Given the description of an element on the screen output the (x, y) to click on. 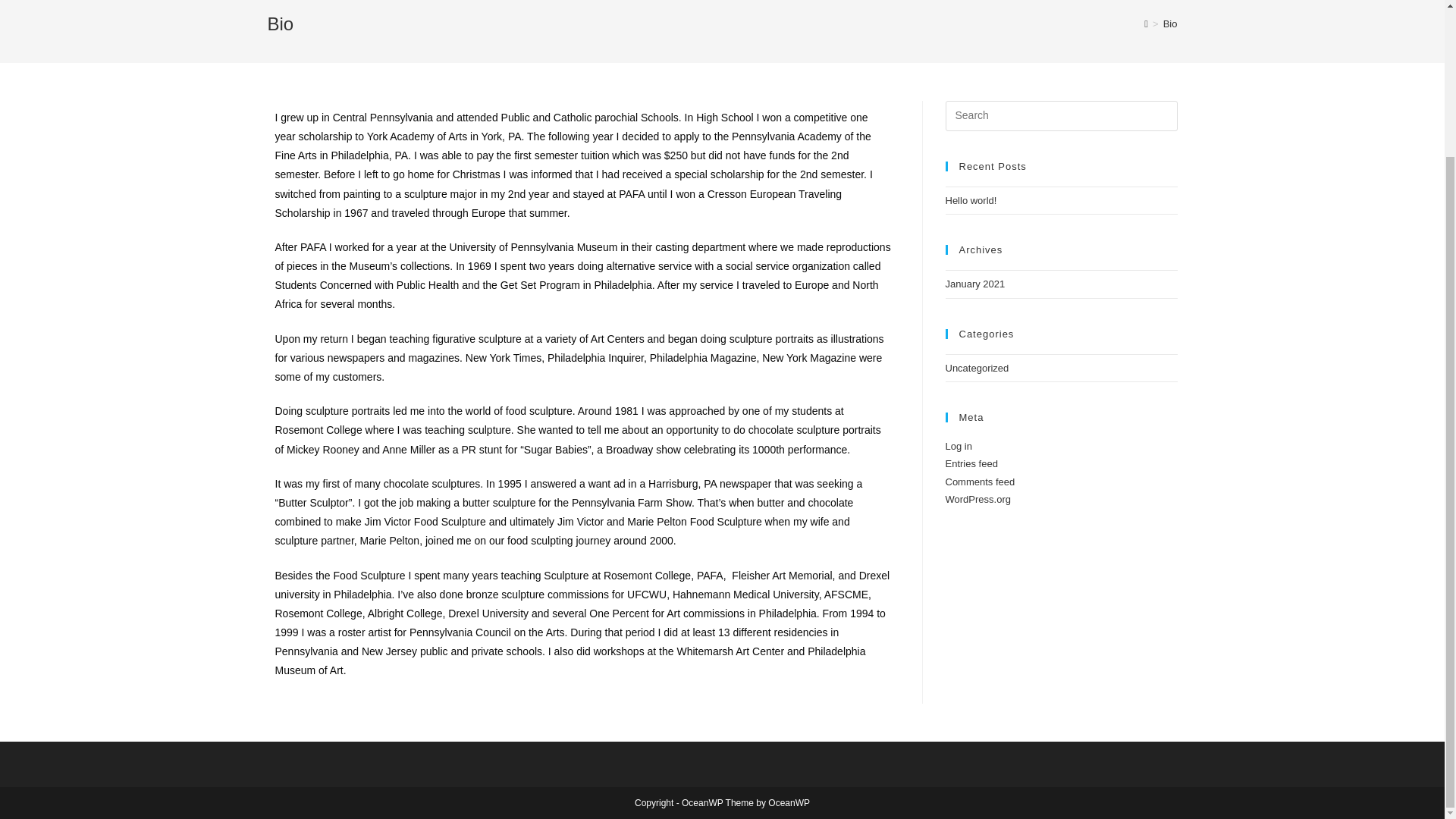
Entries feed (970, 463)
Bio (1170, 23)
Uncategorized (976, 367)
WordPress.org (977, 499)
January 2021 (974, 283)
Hello world! (969, 200)
Comments feed (979, 481)
Log in (957, 446)
